Given the description of an element on the screen output the (x, y) to click on. 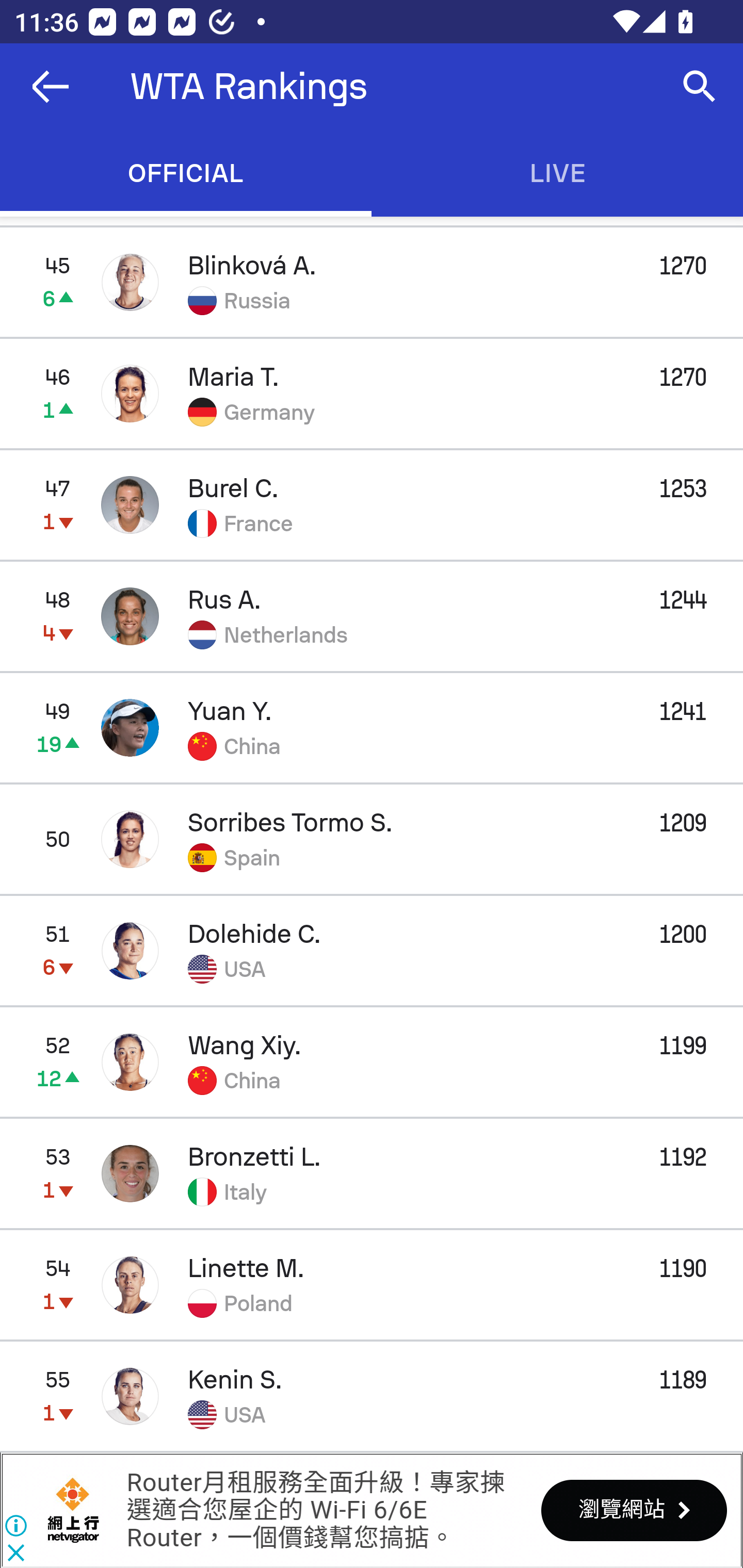
Navigate up (50, 86)
Search (699, 86)
Live LIVE (557, 173)
45 6 Blinková A. 1270 Russia (371, 282)
46 1 Maria T. 1270 Germany (371, 393)
47 1 Burel C. 1253 France (371, 504)
48 4 Rus A. 1244 Netherlands (371, 616)
49 19 Yuan Y. 1241 China (371, 727)
50 Sorribes Tormo S. 1209 Spain (371, 838)
51 6 Dolehide C. 1200 USA (371, 950)
52 12 Wang Xiy. 1199 China (371, 1061)
53 1 Bronzetti L. 1192 Italy (371, 1172)
54 1 Linette M. 1190 Poland (371, 1284)
55 1 Kenin S. 1189 USA (371, 1396)
網上行 Netvigator (73, 1510)
瀏覽網站 (634, 1509)
